Given the description of an element on the screen output the (x, y) to click on. 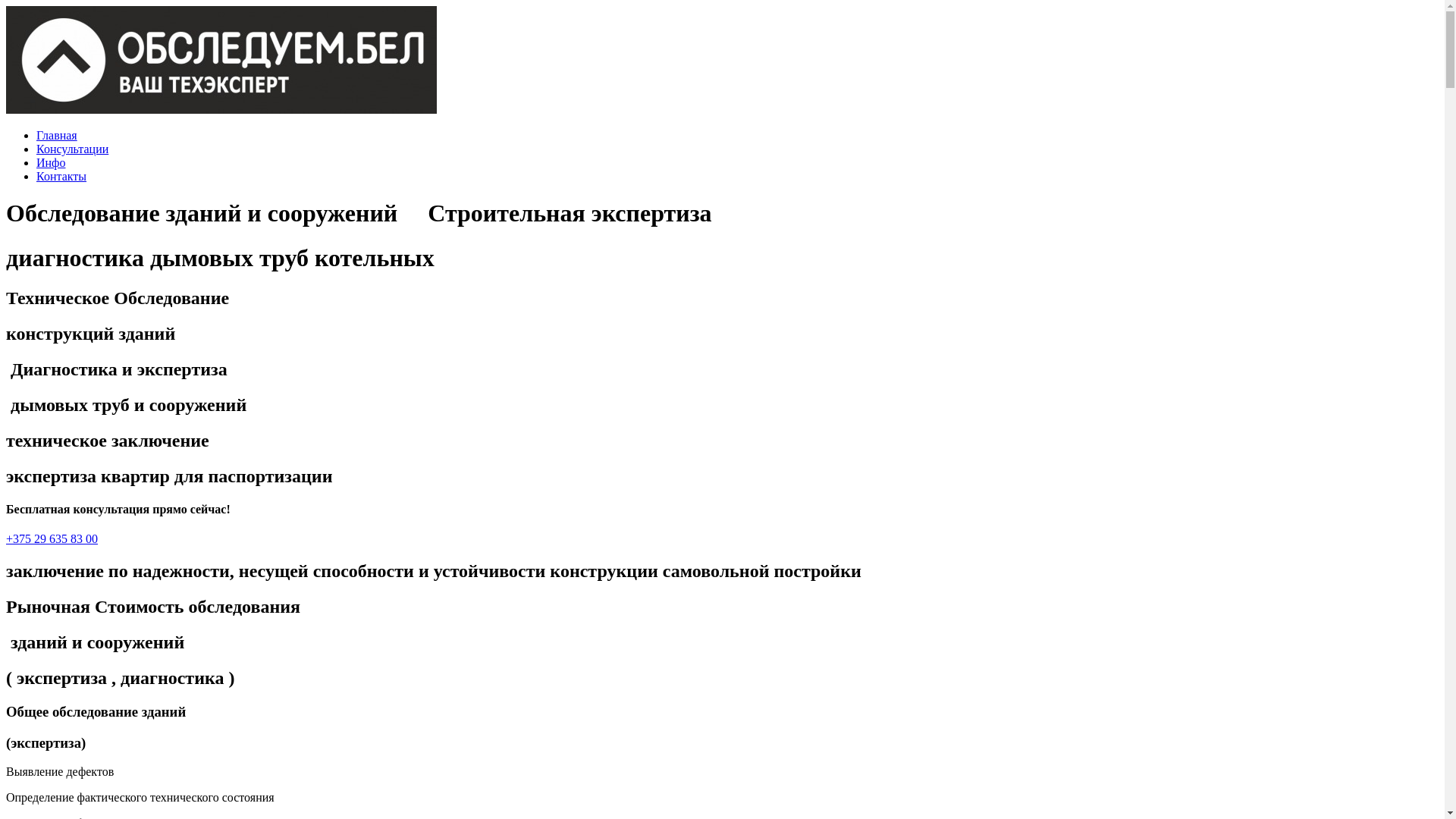
+375 29 635 83 00 Element type: text (51, 538)
#glavnaja Element type: hover (221, 109)
